Given the description of an element on the screen output the (x, y) to click on. 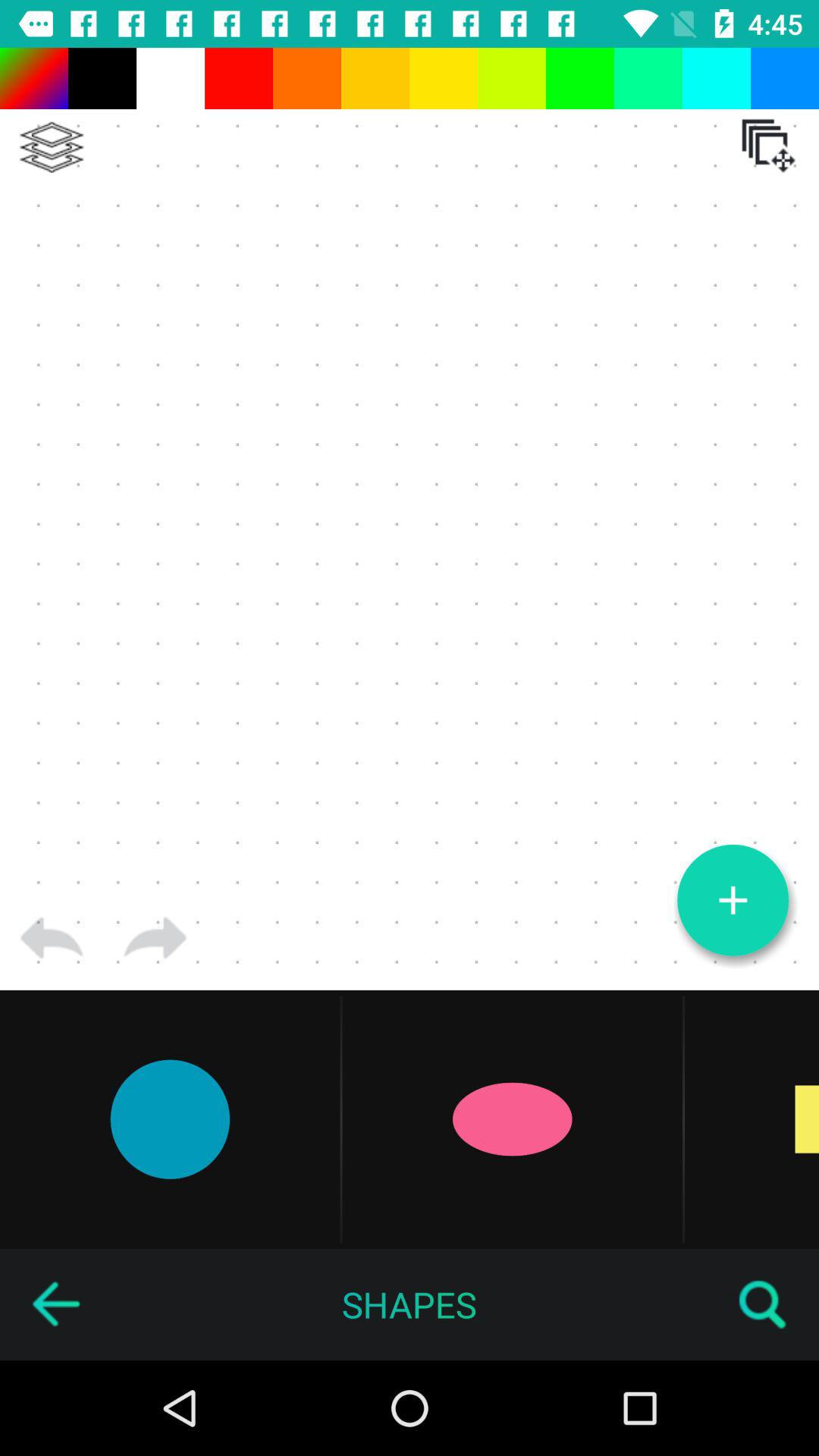
open the item next to shapes icon (55, 1304)
